Given the description of an element on the screen output the (x, y) to click on. 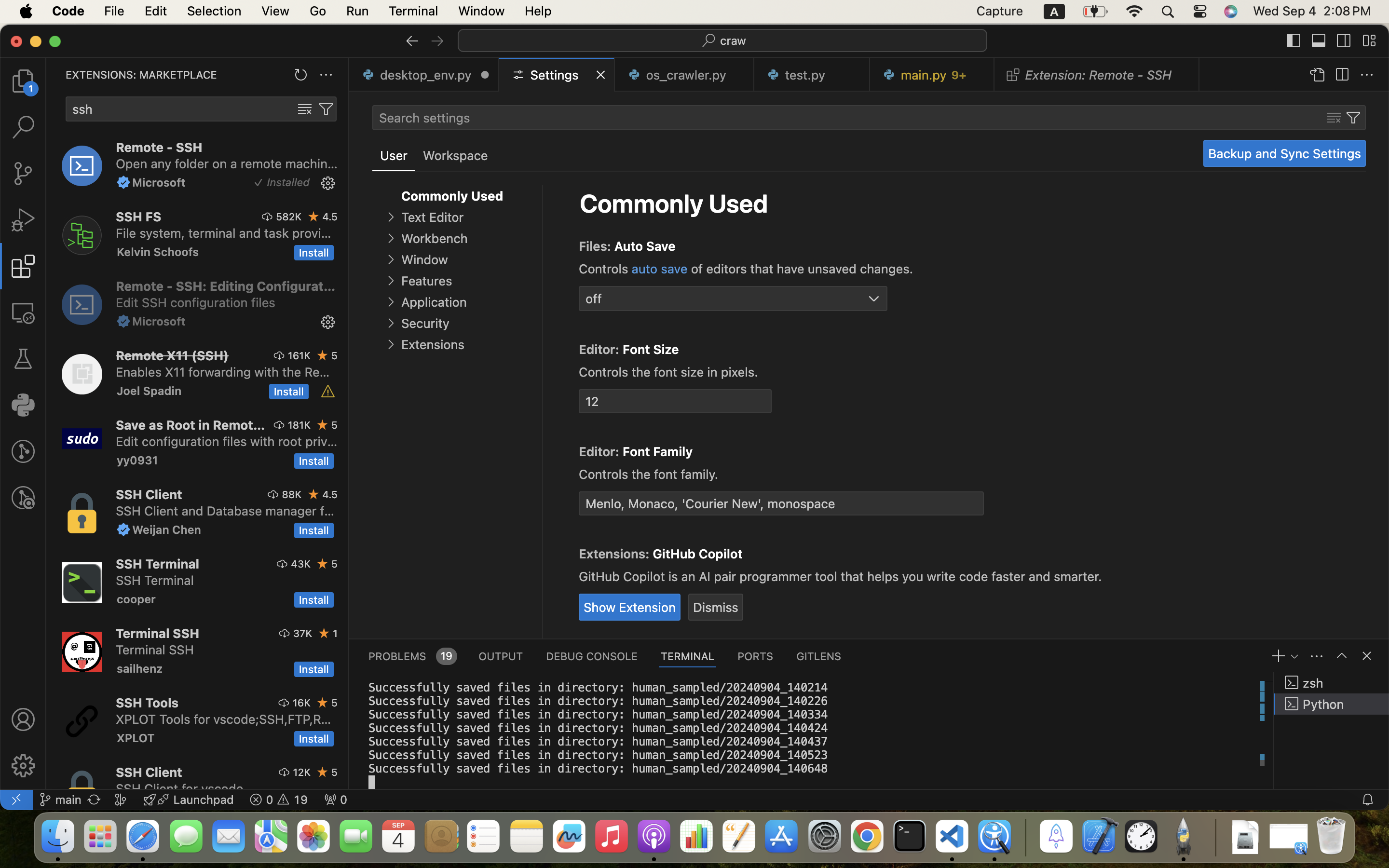
SSH Client and Database manager for MySQL/MariaDB, PostgreSQL, SQLite, Redis and ElasticSearch. Element type: AXStaticText (224, 510)
Extensions: Element type: AXStaticText (615, 553)
GitHub Copilot Element type: AXStaticText (697, 553)
Security Element type: AXStaticText (425, 323)
Edit configuration files with root privileges while using the Remote - SSH extension Element type: AXStaticText (226, 441)
